Given the description of an element on the screen output the (x, y) to click on. 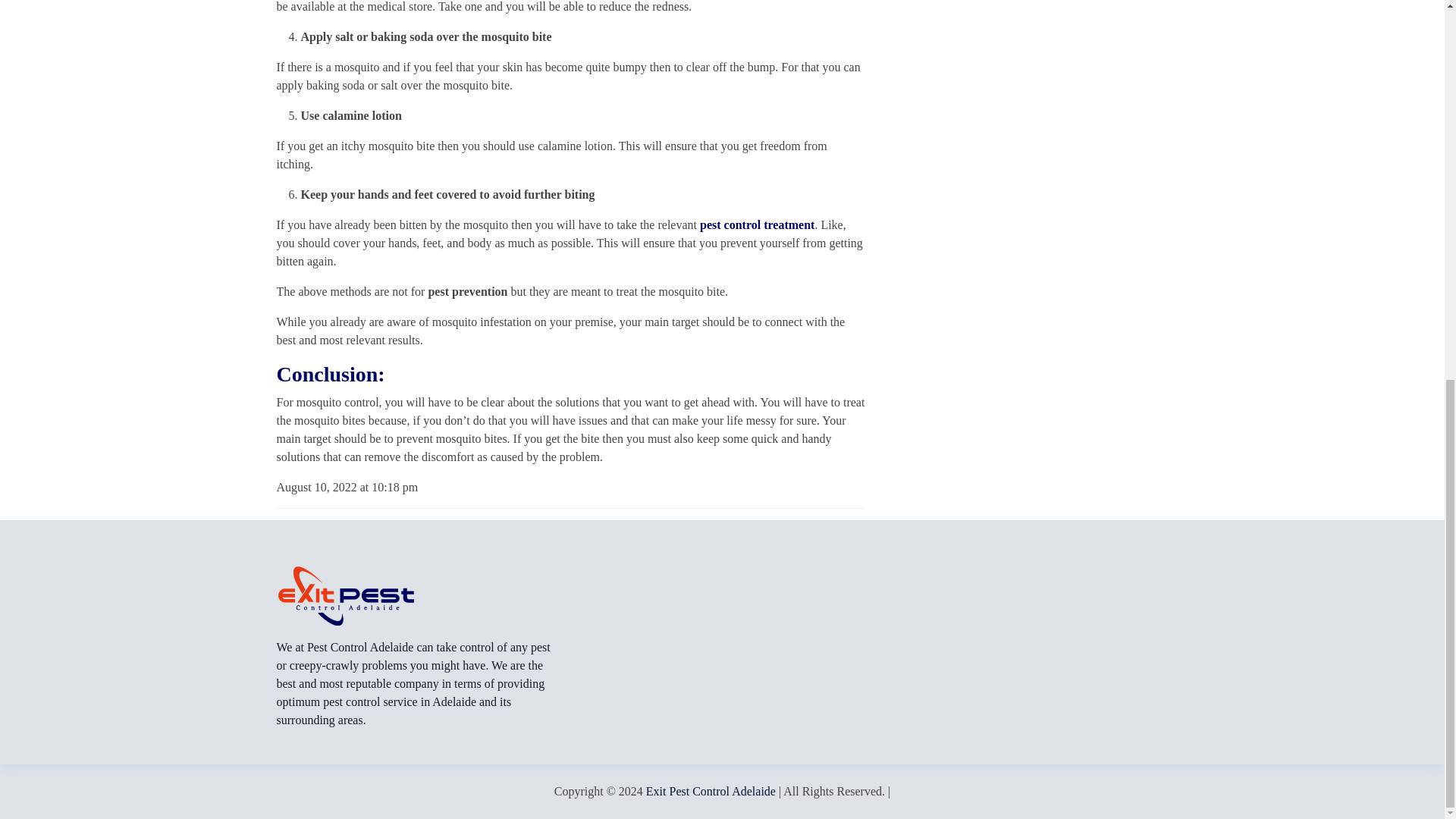
08 7110 0207 (103, 216)
Exit Pest Control Adelaide (711, 790)
pest control treatment (756, 224)
